Given the description of an element on the screen output the (x, y) to click on. 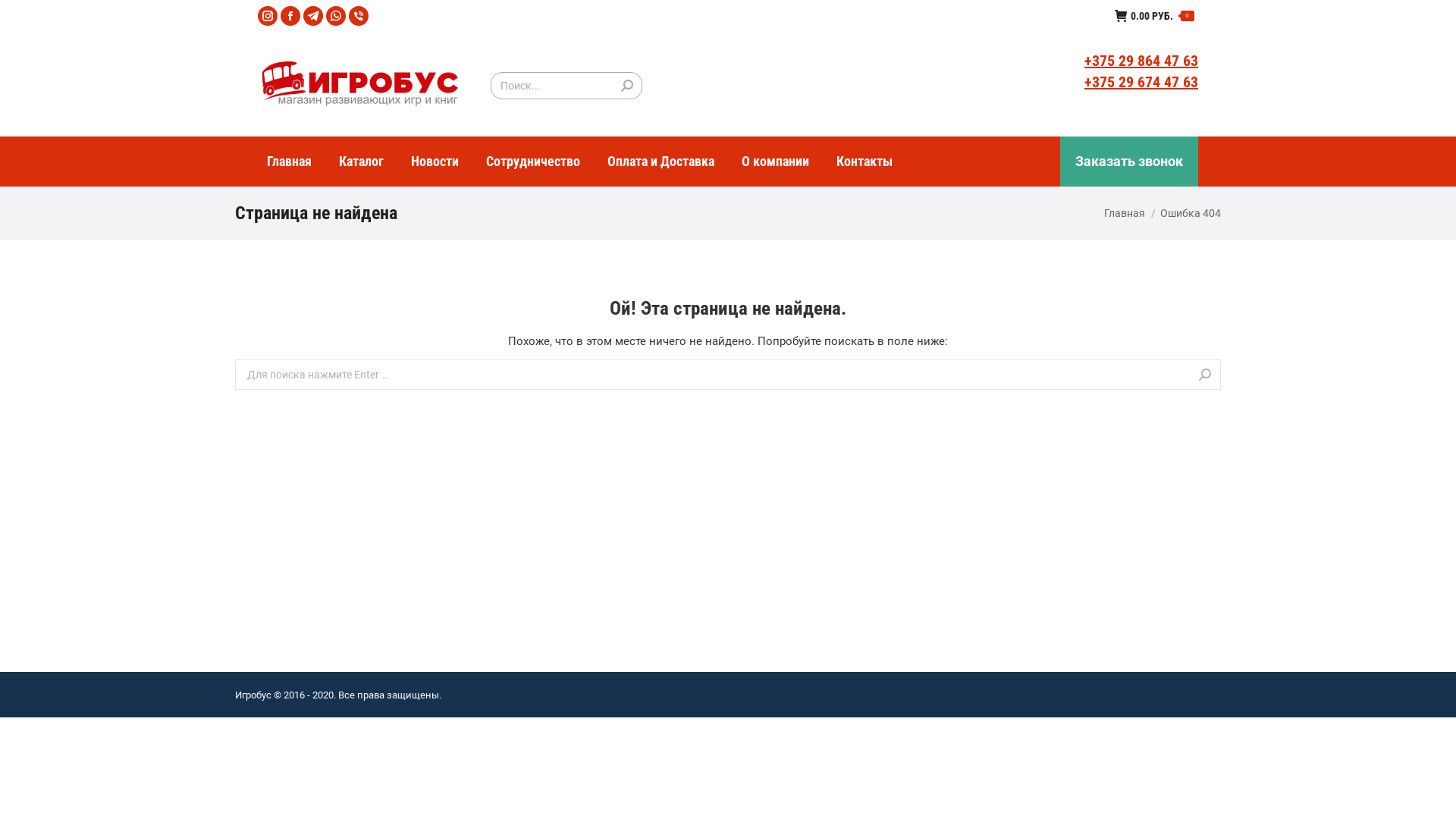
+375 29 864 47 63 Element type: text (1141, 60)
Facebook Element type: text (290, 15)
Viber Element type: text (358, 15)
Telegram Element type: text (313, 15)
+375 29 674 47 63 Element type: text (1141, 81)
WhatsApp Element type: text (335, 15)
Instagram Element type: text (267, 15)
